Given the description of an element on the screen output the (x, y) to click on. 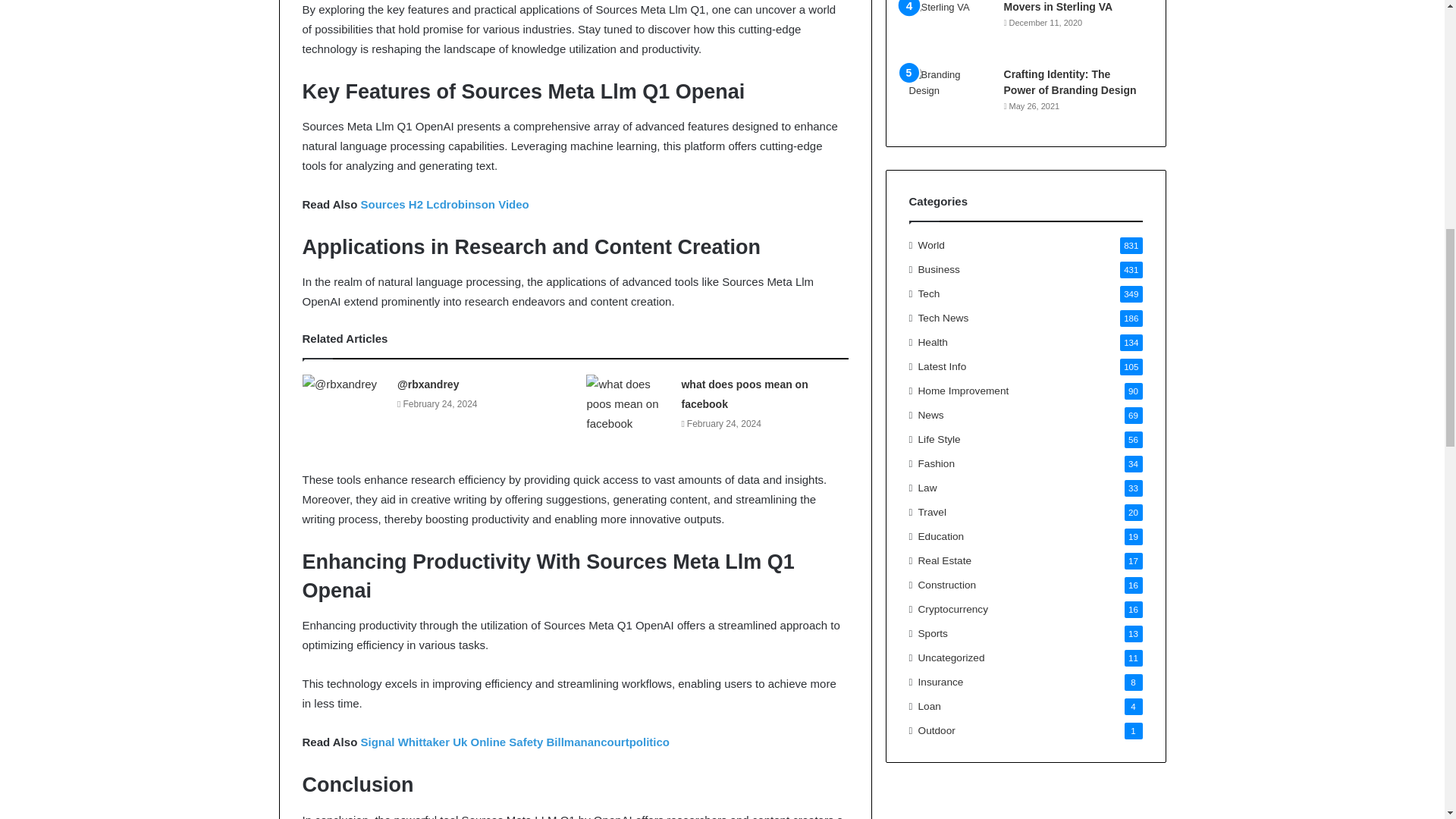
Signal Whittaker Uk Online Safety Billmanancourtpolitico (514, 741)
what does poos mean on facebook (744, 394)
Sources H2 Lcdrobinson Video (443, 204)
